Given the description of an element on the screen output the (x, y) to click on. 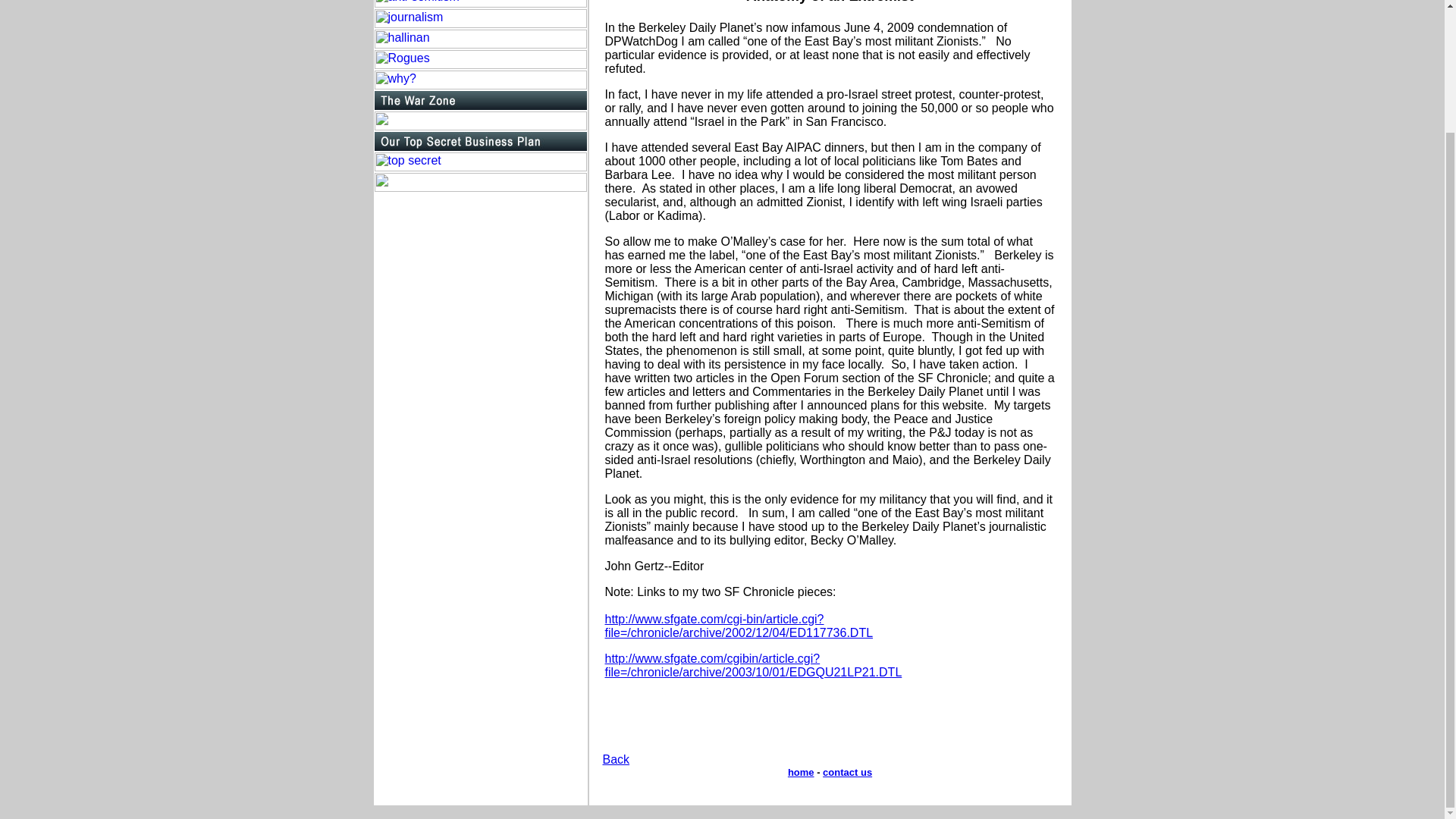
Back (615, 758)
contact us (847, 772)
home (800, 772)
